Given the description of an element on the screen output the (x, y) to click on. 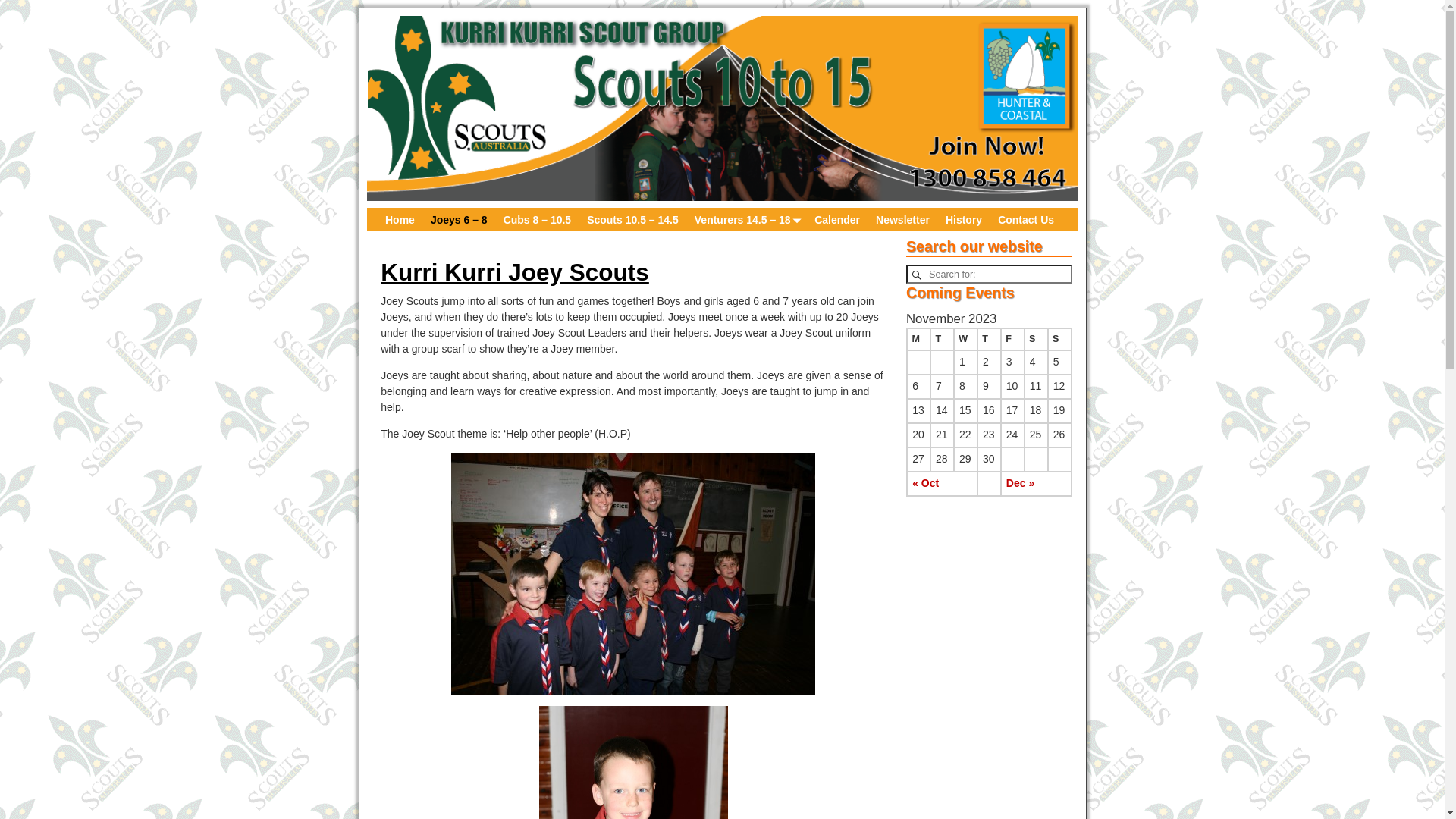
Contact Us Element type: text (1026, 219)
Home Element type: text (400, 219)
Newsletter Element type: text (903, 219)
Kurri Scouts Element type: hover (722, 107)
History Element type: text (963, 219)
Calender Element type: text (837, 219)
